Given the description of an element on the screen output the (x, y) to click on. 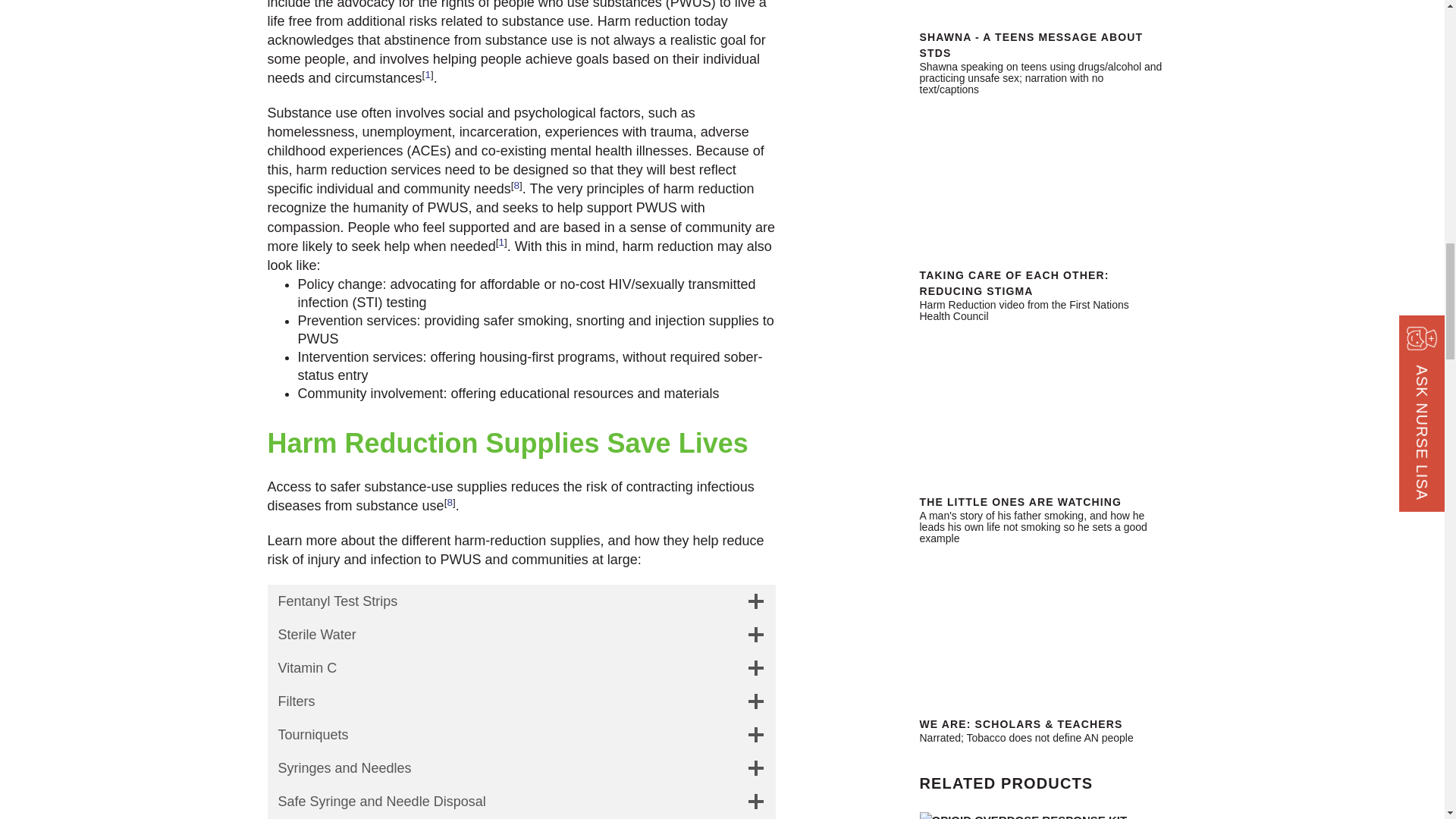
Taking Care of Each Other: Reducing Stigma (1039, 179)
the Little Ones Are Watching (1039, 406)
shawna - A teens message about STDs (1039, 11)
